Given the description of an element on the screen output the (x, y) to click on. 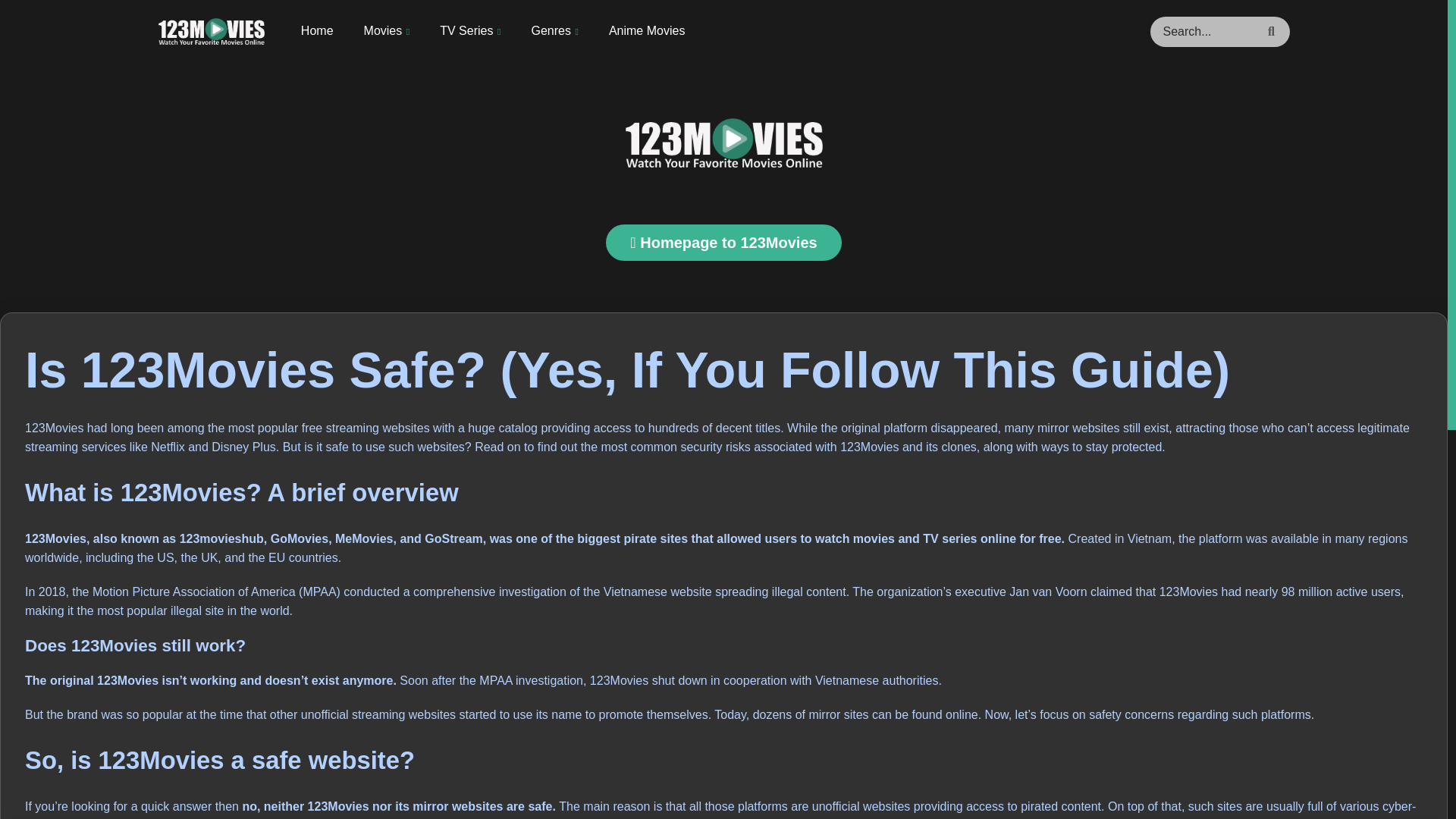
TV Series (469, 31)
Movies (387, 31)
Home (317, 30)
 Homepage to 123Movies (723, 242)
Genres (554, 31)
Anime Movies (646, 30)
